Given the description of an element on the screen output the (x, y) to click on. 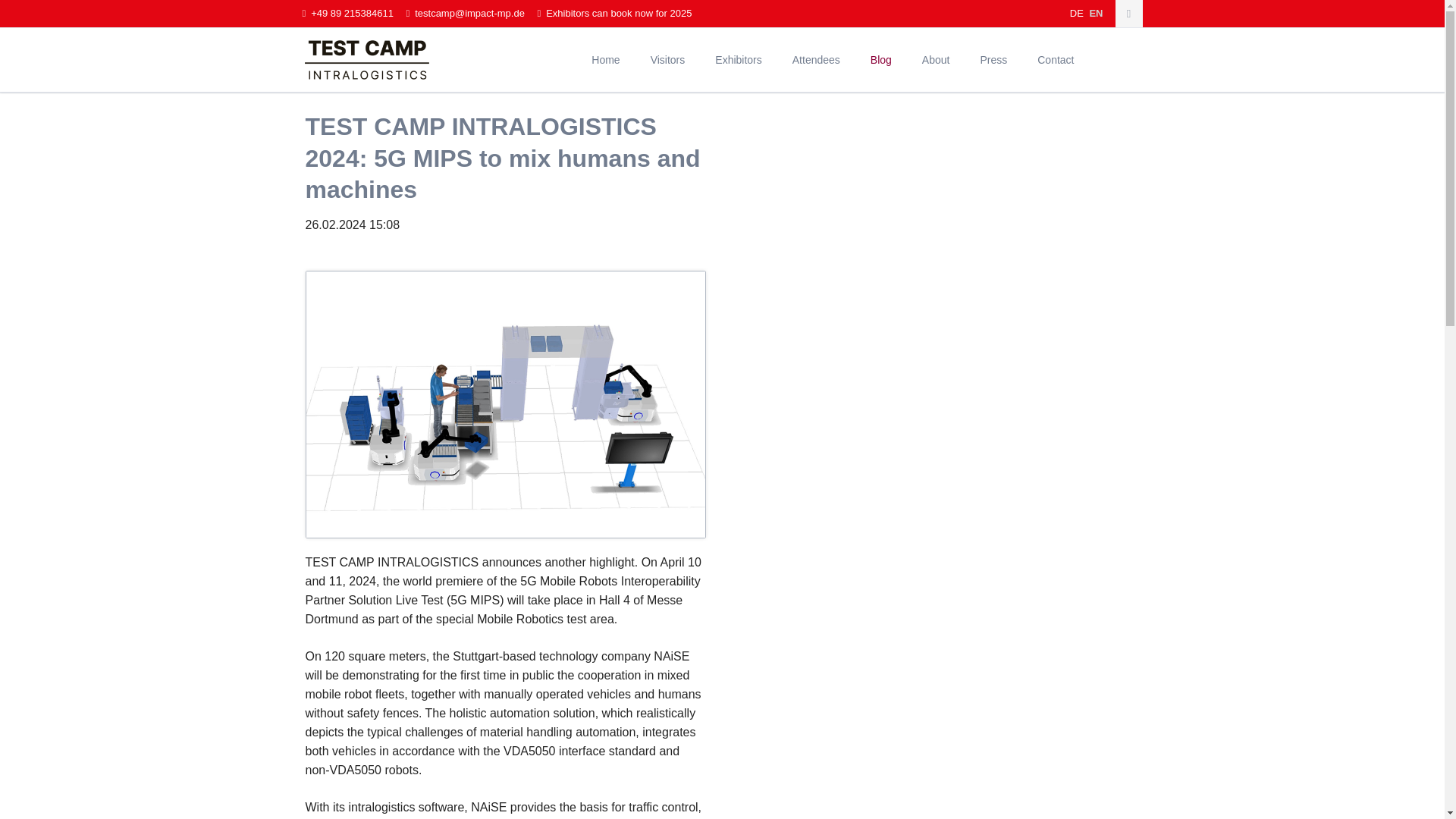
Home (605, 59)
Exhibitors (738, 59)
Exhibitors (738, 59)
DE (1076, 12)
Visitors (667, 59)
Exhibitors can book now for 2025 (615, 13)
TEST CAMP INTRALOGISTICS DE (1076, 12)
Visitors (667, 59)
Home (605, 59)
